Given the description of an element on the screen output the (x, y) to click on. 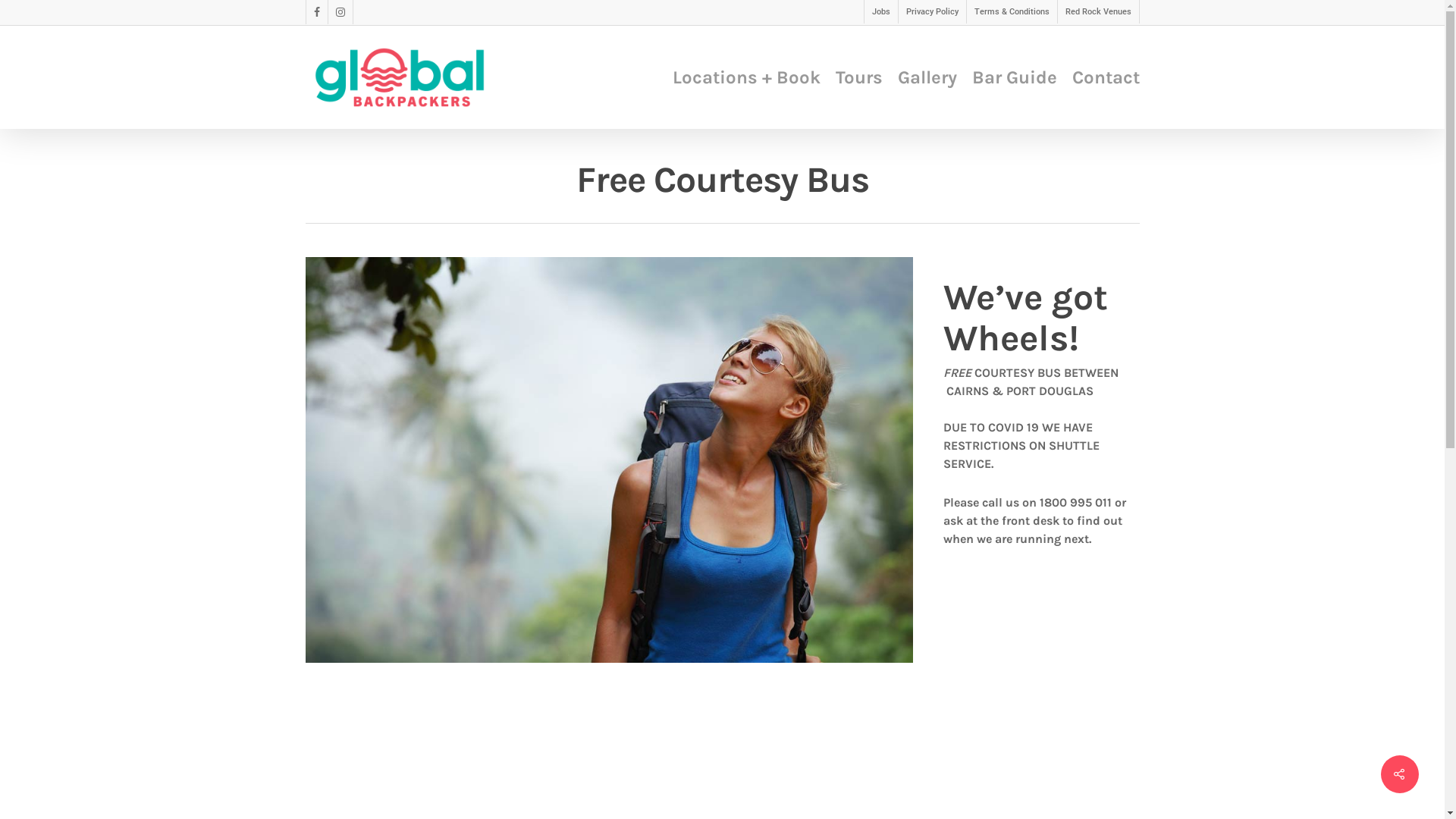
Jobs Element type: text (879, 11)
Tours Element type: text (858, 77)
Privacy Policy Element type: text (931, 11)
Gallery Element type: text (927, 77)
Red Rock Venues Element type: text (1098, 11)
Locations + Book Element type: text (745, 77)
Bar Guide Element type: text (1014, 77)
Terms & Conditions Element type: text (1011, 11)
Contact Element type: text (1105, 77)
